Given the description of an element on the screen output the (x, y) to click on. 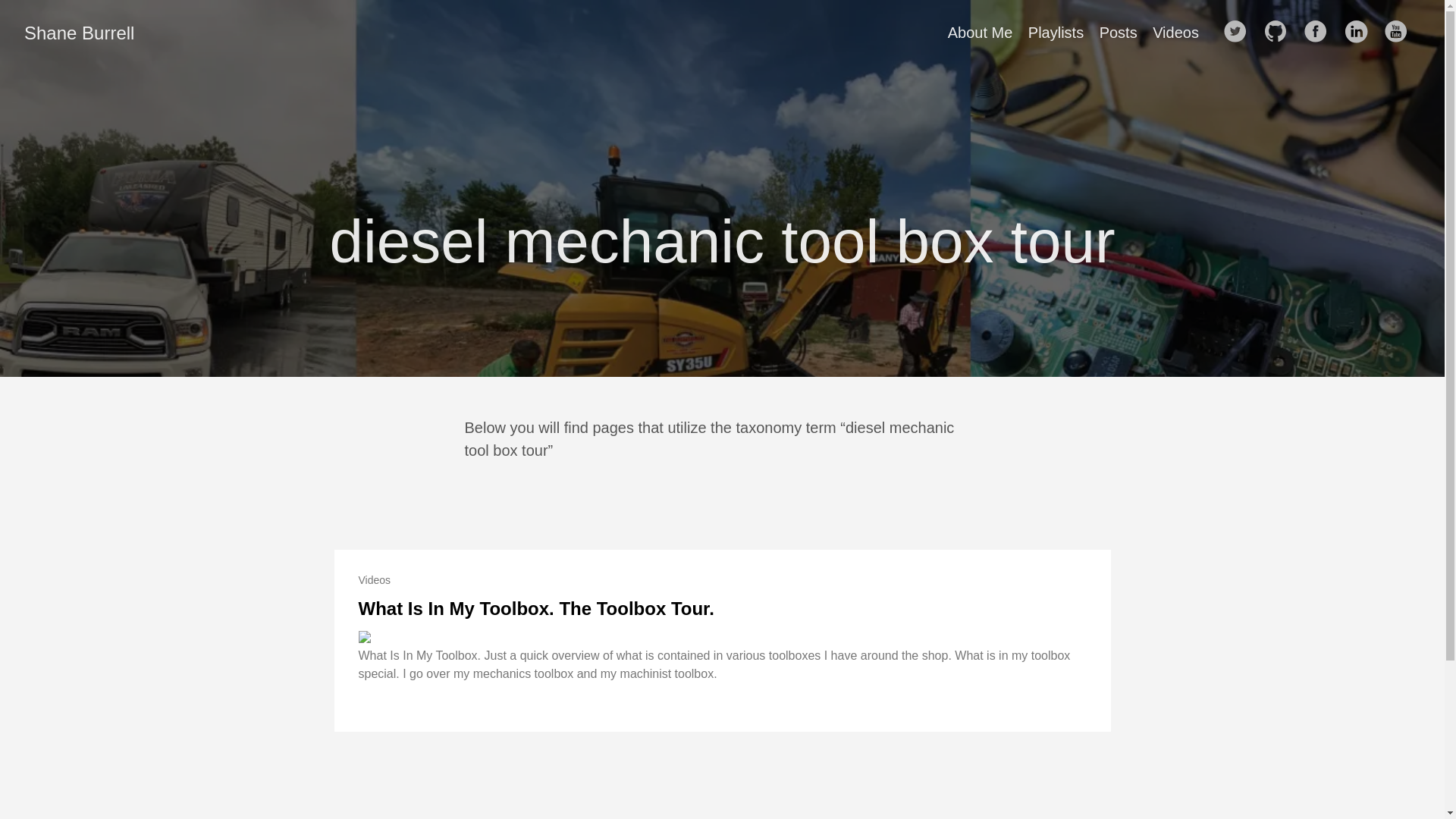
YouTube link (1400, 31)
Playlists page (1055, 32)
Posts (1118, 32)
LinkedIn link (1360, 31)
Playlists (1055, 32)
Videos (1175, 32)
Videos page (1175, 32)
What Is In My Toolbox. The Toolbox Tour. (535, 608)
GitHub link (1280, 31)
Shane Burrell (78, 33)
Posts page (1118, 32)
Facebook link (1319, 31)
Twitter link (1239, 31)
About Me (980, 32)
About Me page (980, 32)
